Given the description of an element on the screen output the (x, y) to click on. 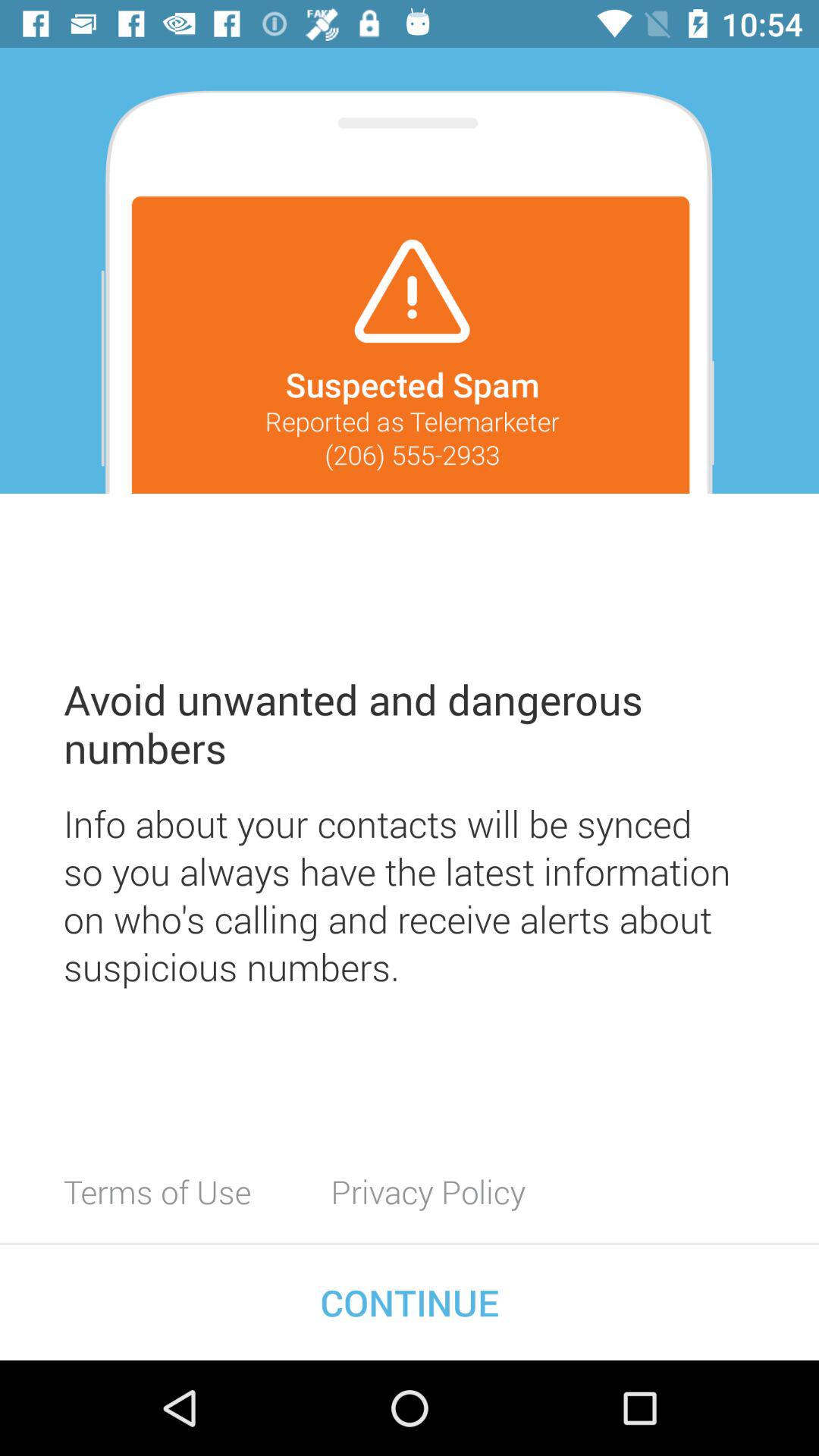
launch continue (409, 1302)
